Given the description of an element on the screen output the (x, y) to click on. 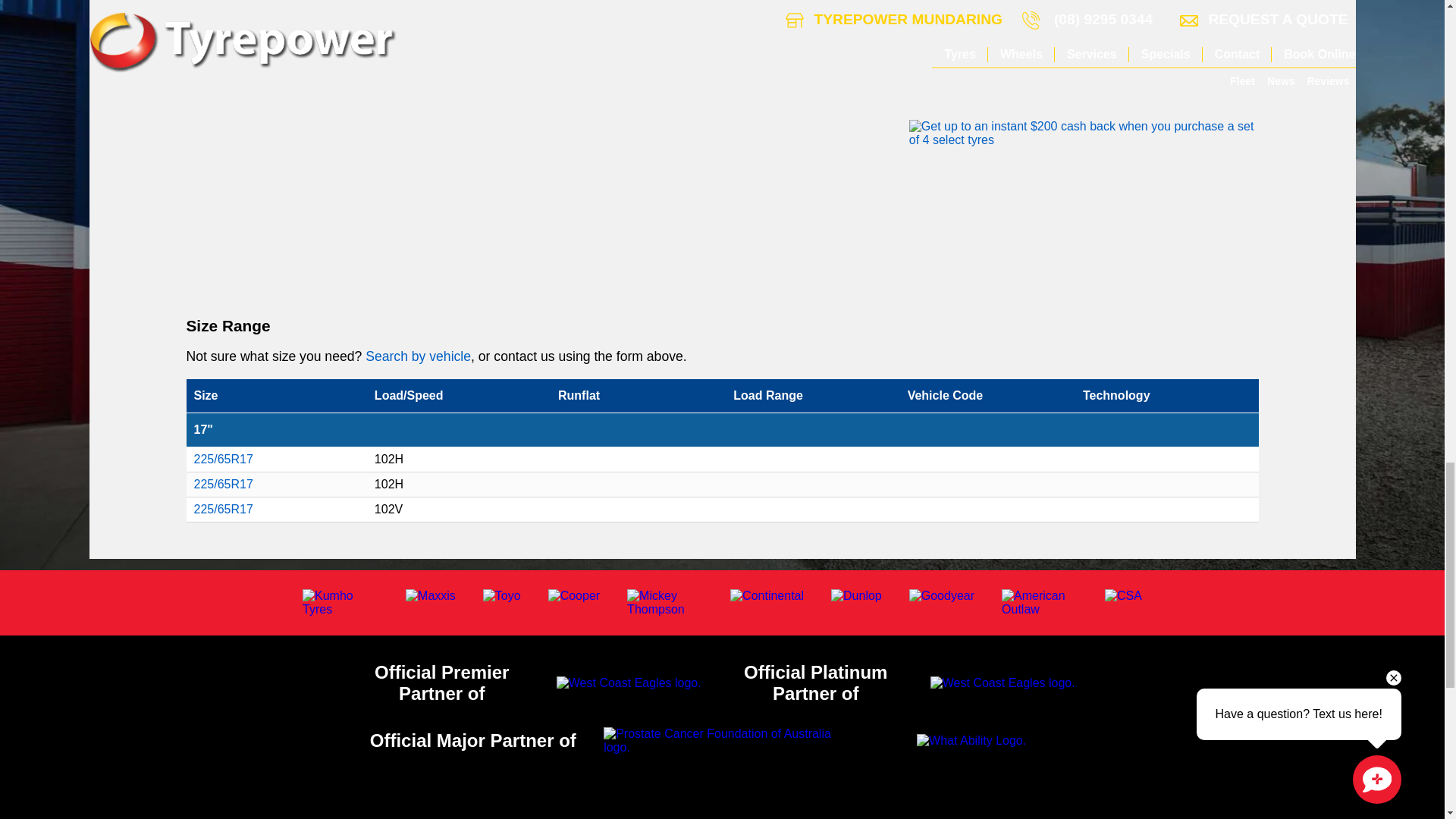
Tyrepower are the Official Sponsor of the West Coast Eagles. (628, 683)
Tyrepower are the Official Sponsor of the Perth Wildcats. (1002, 683)
